Given the description of an element on the screen output the (x, y) to click on. 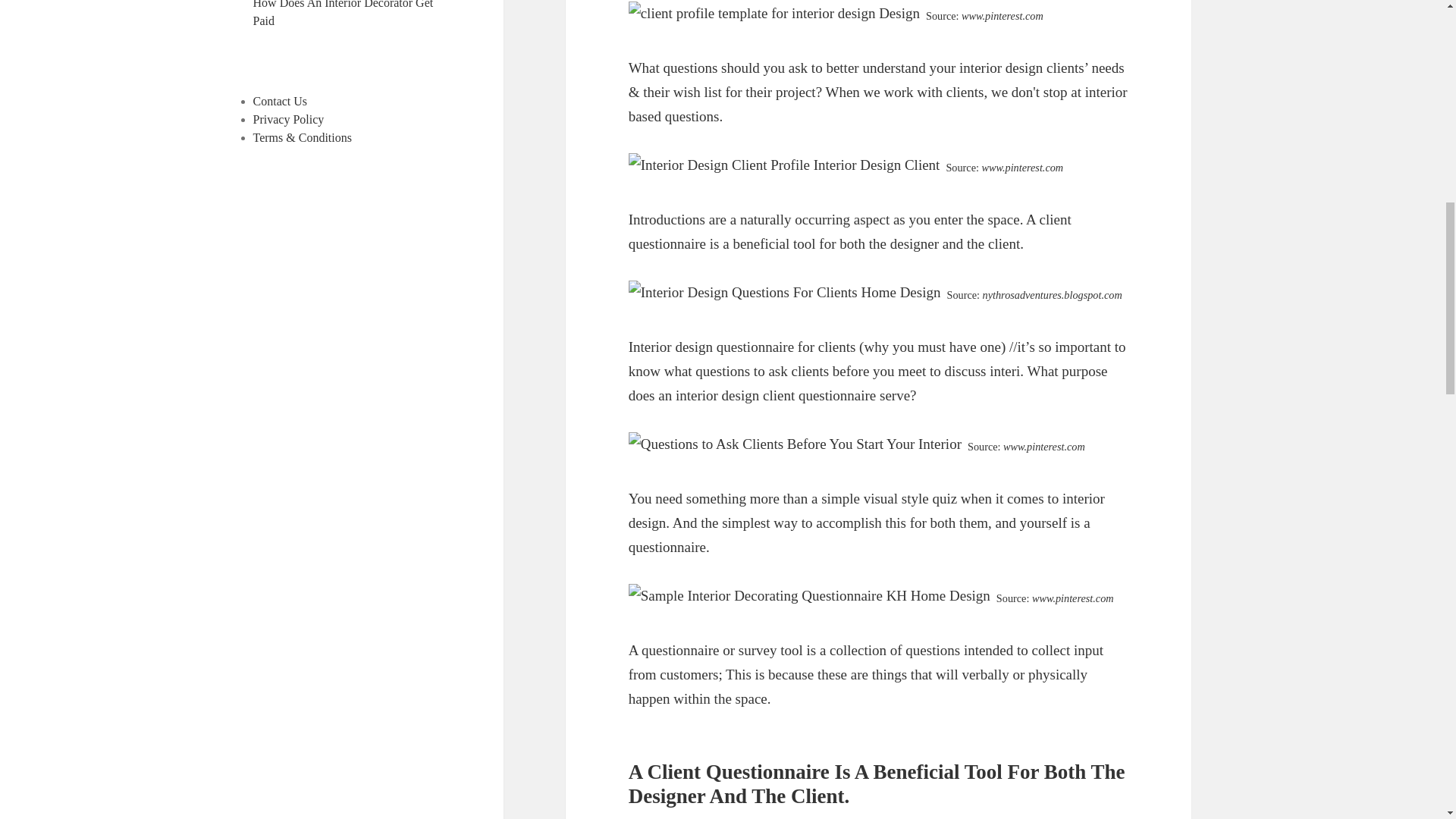
How Does An Interior Decorator Get Paid (343, 13)
Privacy Policy (288, 119)
Contact Us (280, 101)
